Given the description of an element on the screen output the (x, y) to click on. 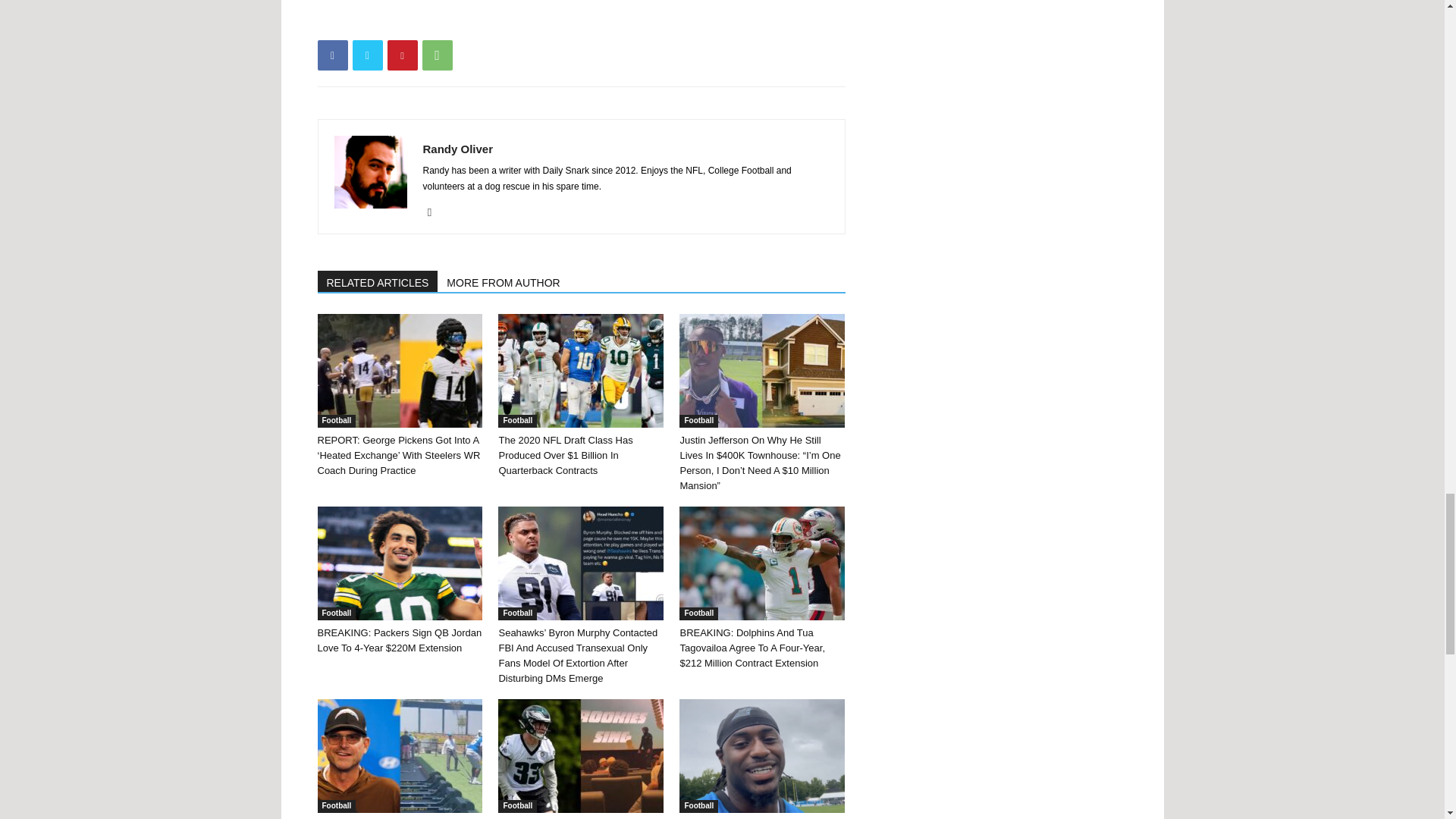
bottomFacebookLike (430, 21)
RELATED ARTICLES (377, 281)
Randy Oliver (458, 148)
